Given the description of an element on the screen output the (x, y) to click on. 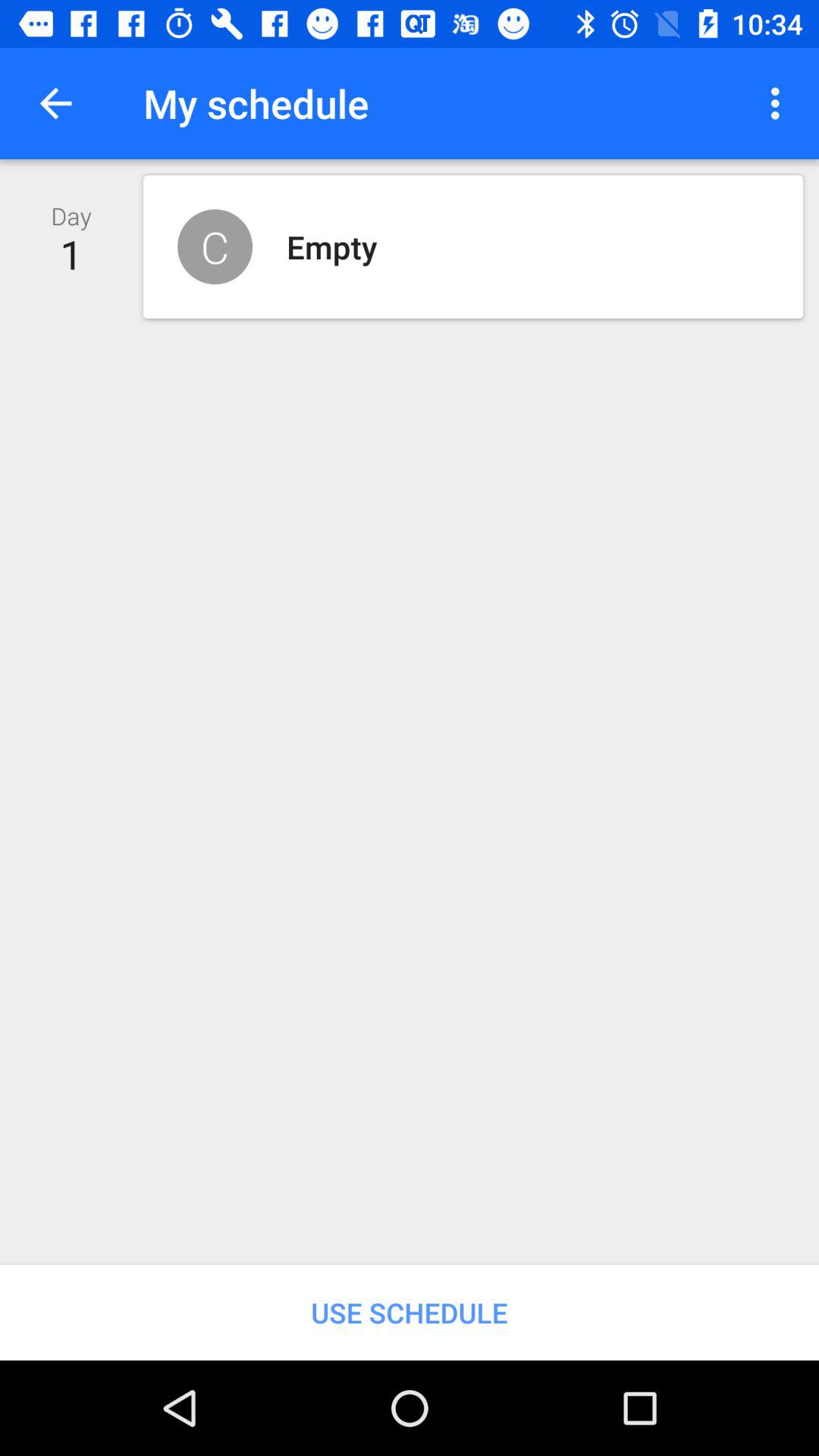
press the item next to the my schedule icon (55, 103)
